Given the description of an element on the screen output the (x, y) to click on. 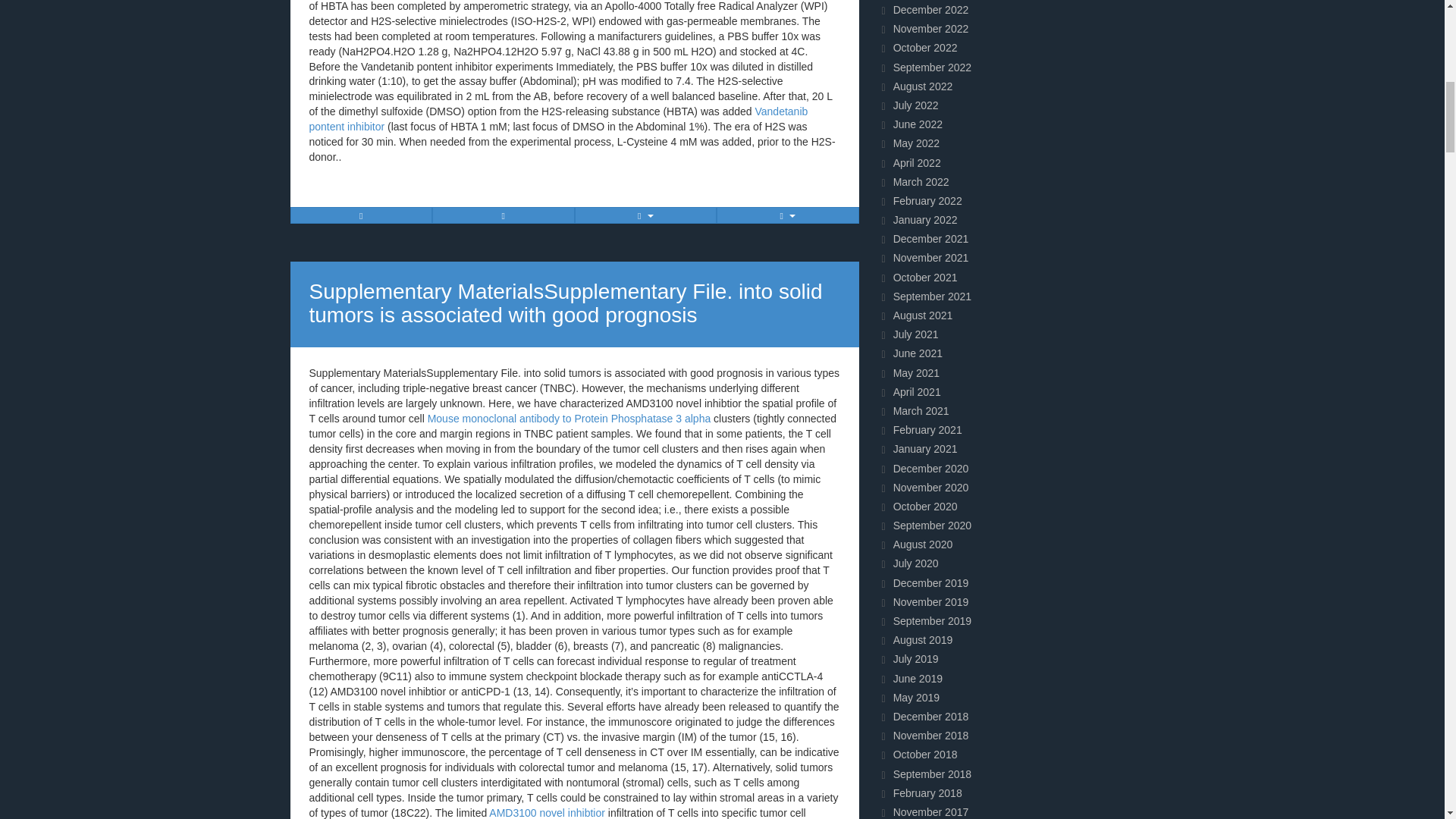
Mouse monoclonal antibody to Protein Phosphatase 3 alpha (569, 418)
Vandetanib pontent inhibitor (558, 118)
AMD3100 novel inhibtior (547, 812)
